Given the description of an element on the screen output the (x, y) to click on. 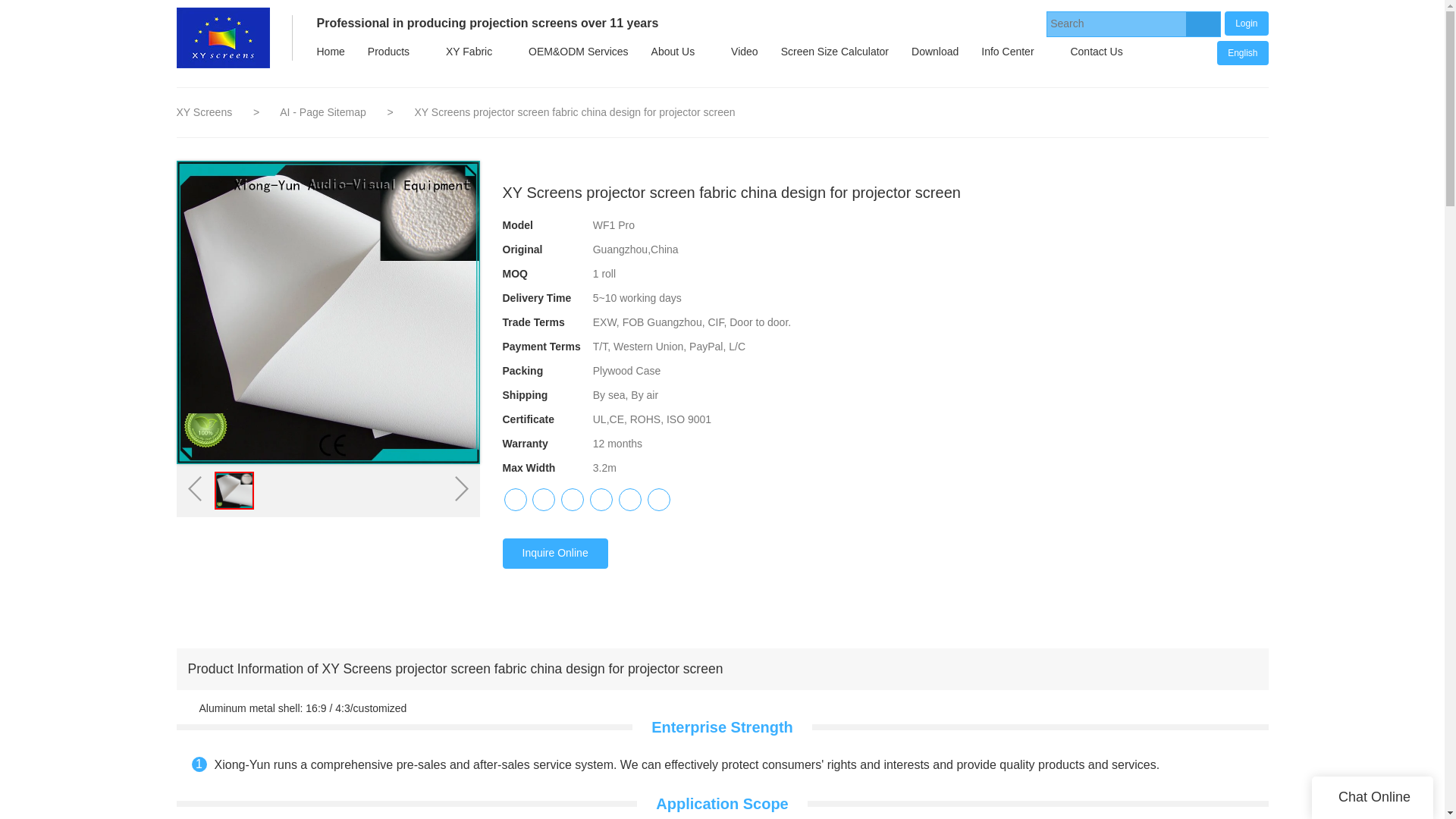
Screen Size Calculator (834, 51)
About Us (673, 51)
Video (744, 51)
Home (329, 51)
Products (388, 51)
XY Fabric (468, 51)
Login (1245, 23)
